Given the description of an element on the screen output the (x, y) to click on. 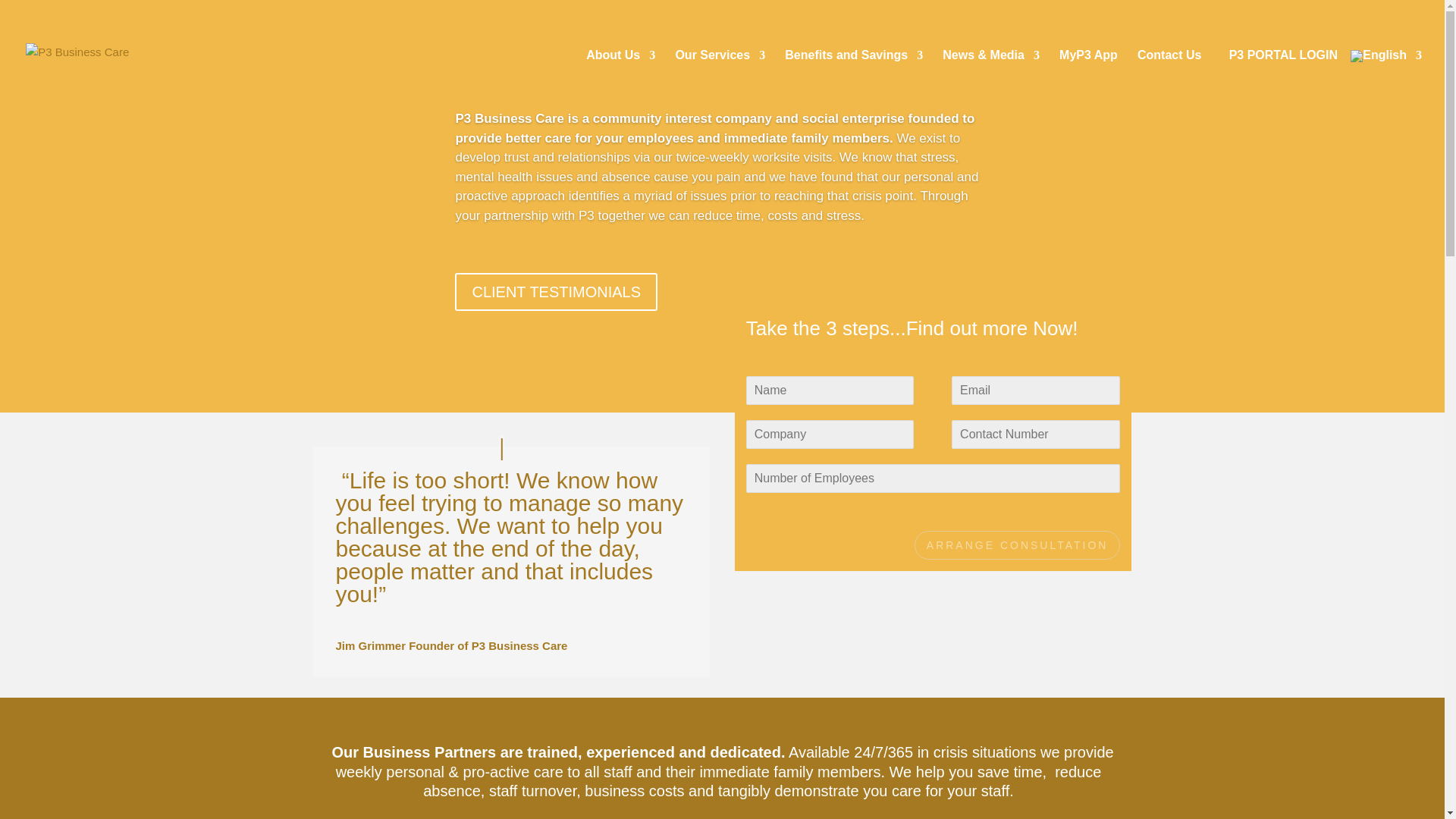
Benefits and Savings (853, 75)
MyP3 App (1088, 75)
Our Services (720, 75)
P3 PORTAL LOGIN (1283, 75)
Home Page (533, 75)
Contact Us (1169, 75)
About Us (620, 75)
